Given the description of an element on the screen output the (x, y) to click on. 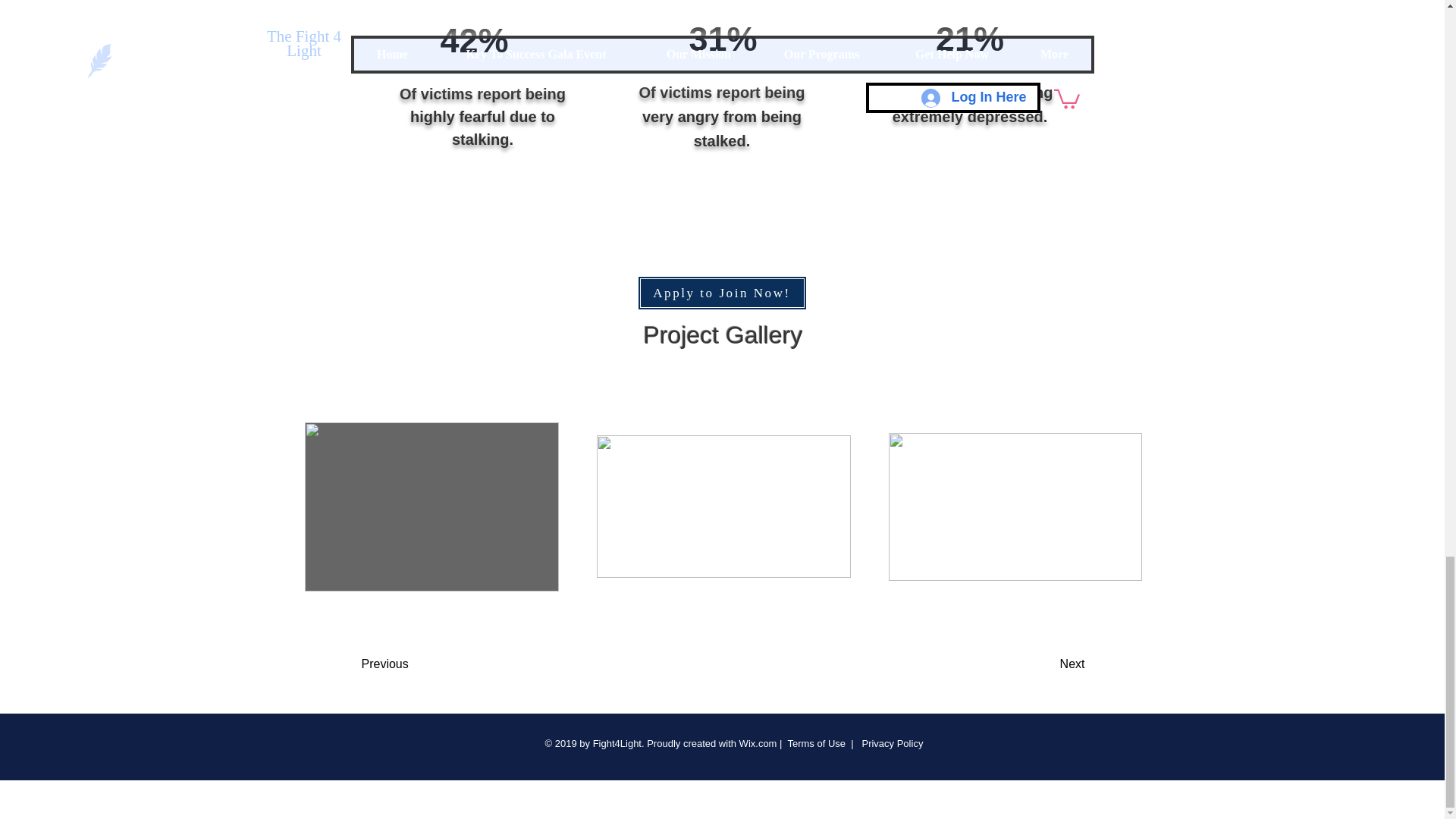
Apply to Join Now! (721, 293)
depressed.png (956, 10)
Wix.com (758, 743)
Next (1033, 664)
angry.png (723, 10)
Terms of Use (816, 743)
Previous (422, 664)
 Privacy Policy (891, 743)
